Given the description of an element on the screen output the (x, y) to click on. 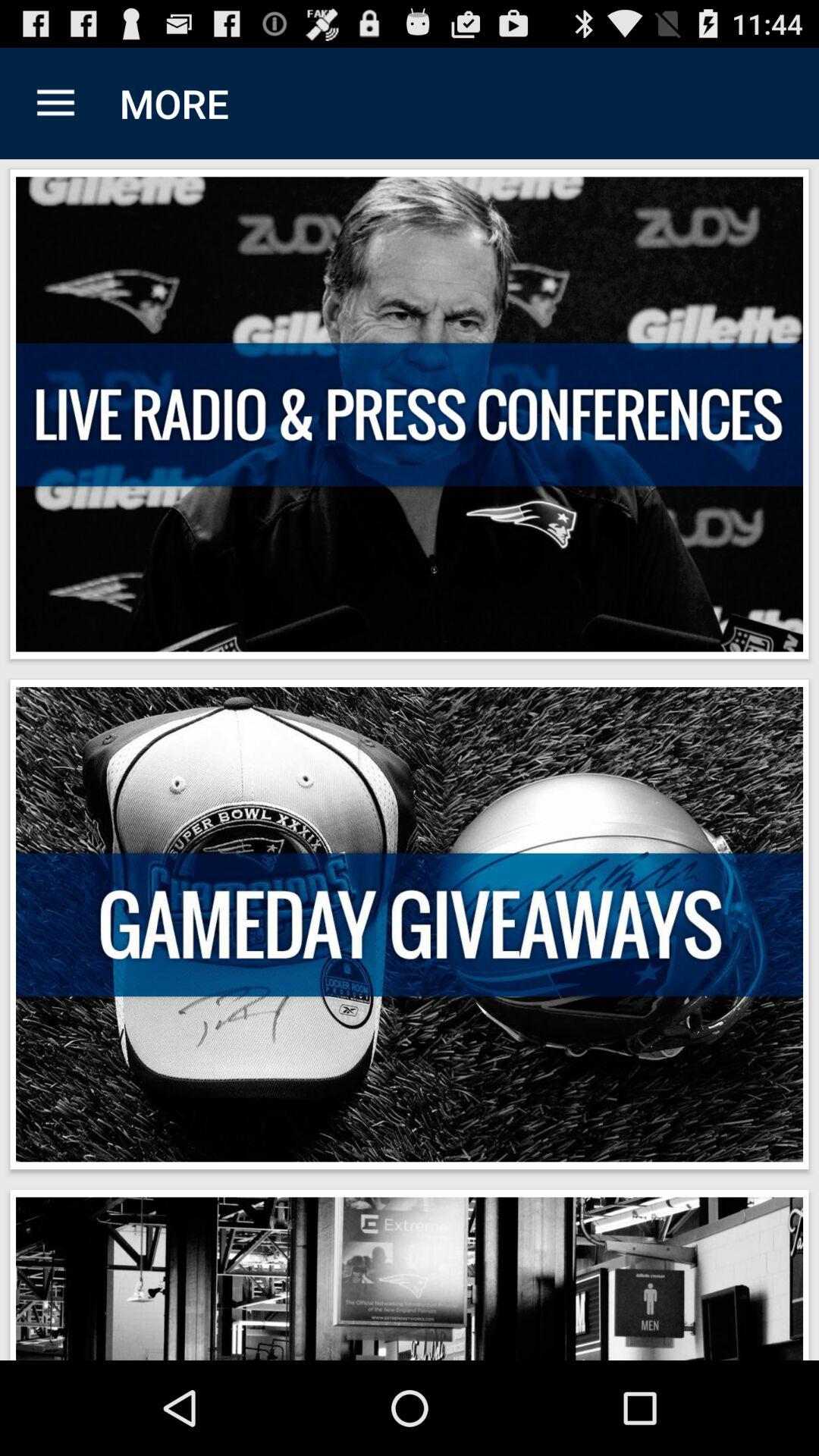
turn off the icon next to more (55, 103)
